Given the description of an element on the screen output the (x, y) to click on. 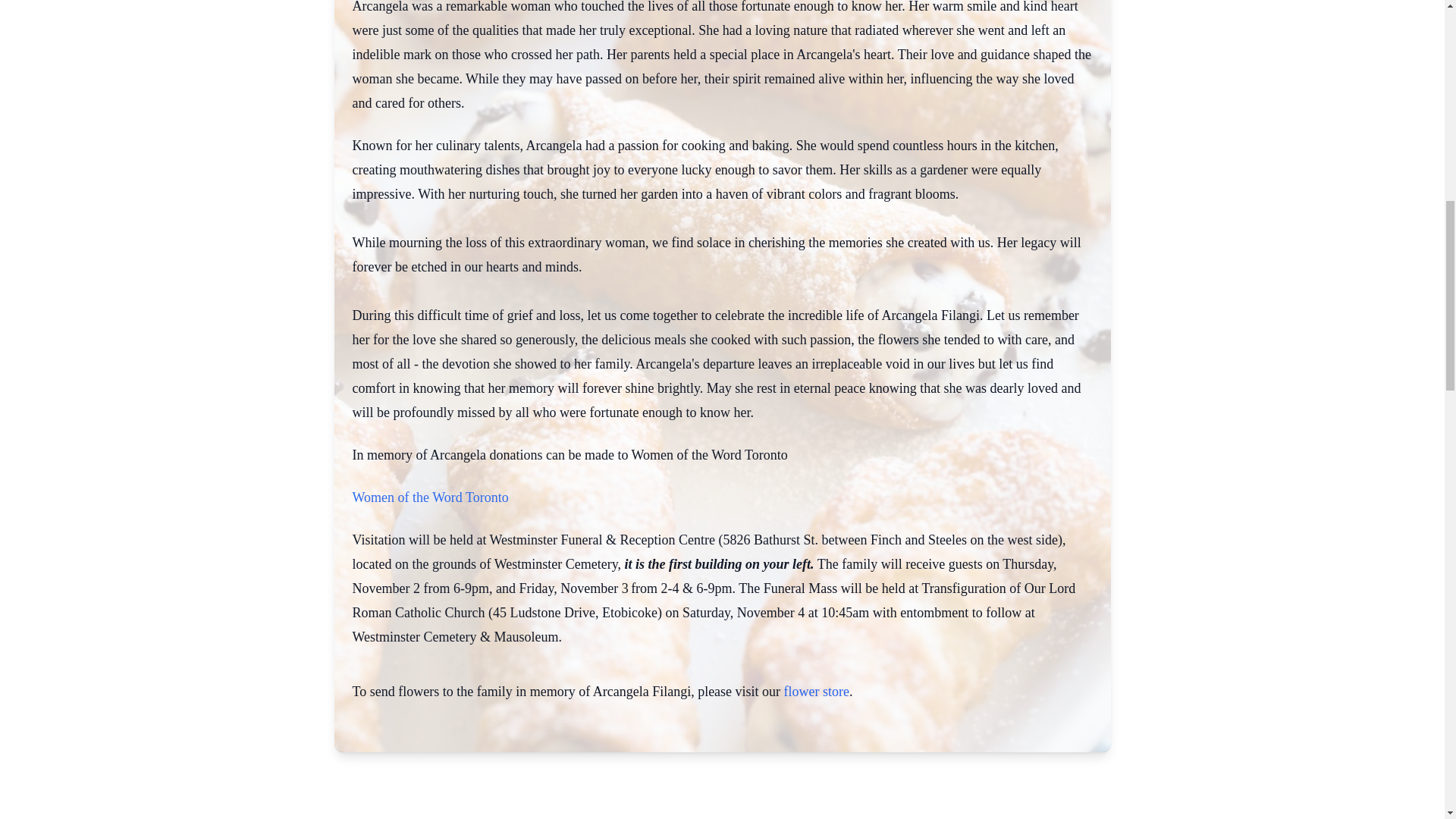
Women of the Word Toronto (430, 497)
flower store (816, 691)
Women of the Word Toronto (430, 497)
